Given the description of an element on the screen output the (x, y) to click on. 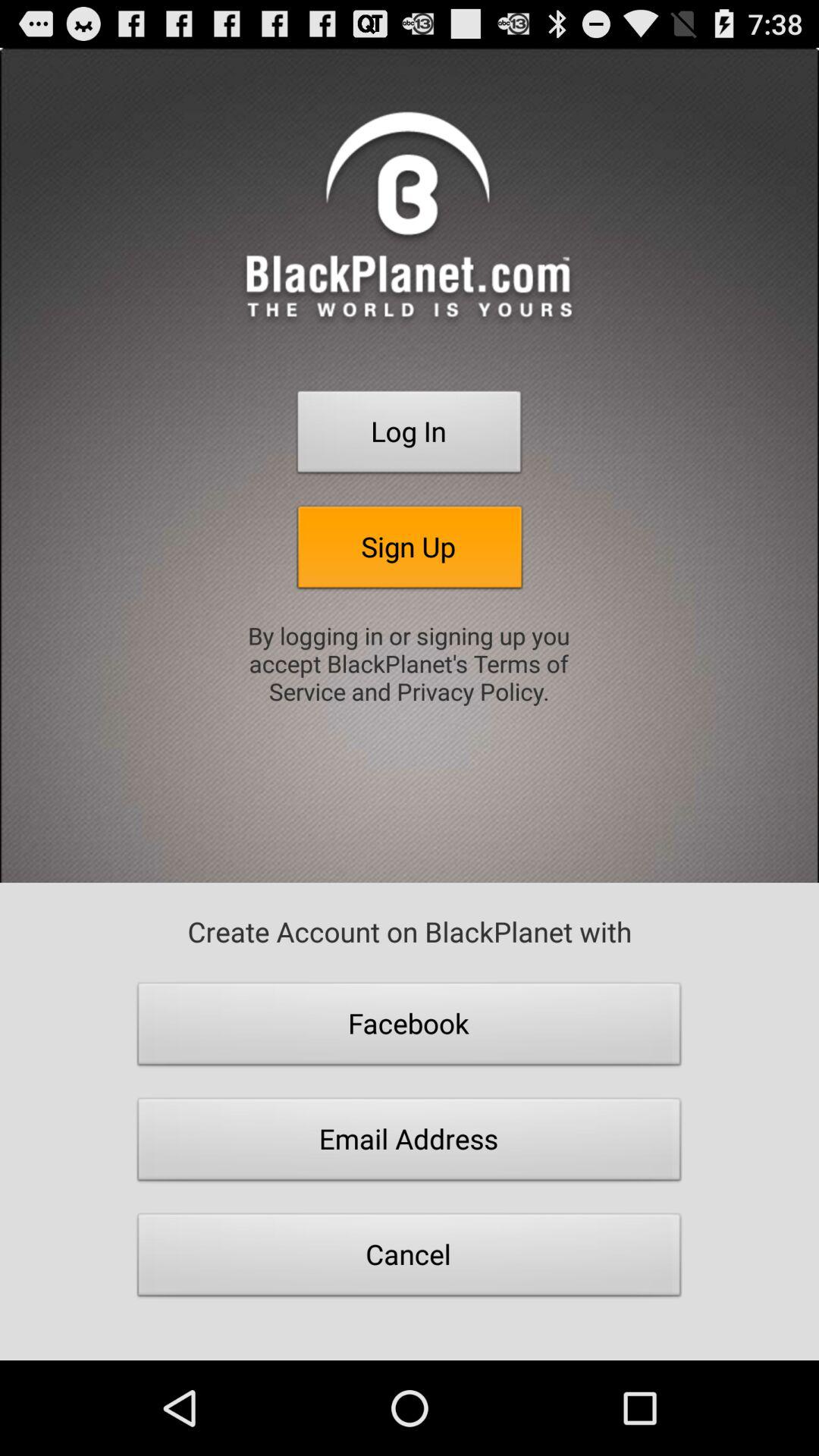
turn on the icon below the facebook (409, 1143)
